Given the description of an element on the screen output the (x, y) to click on. 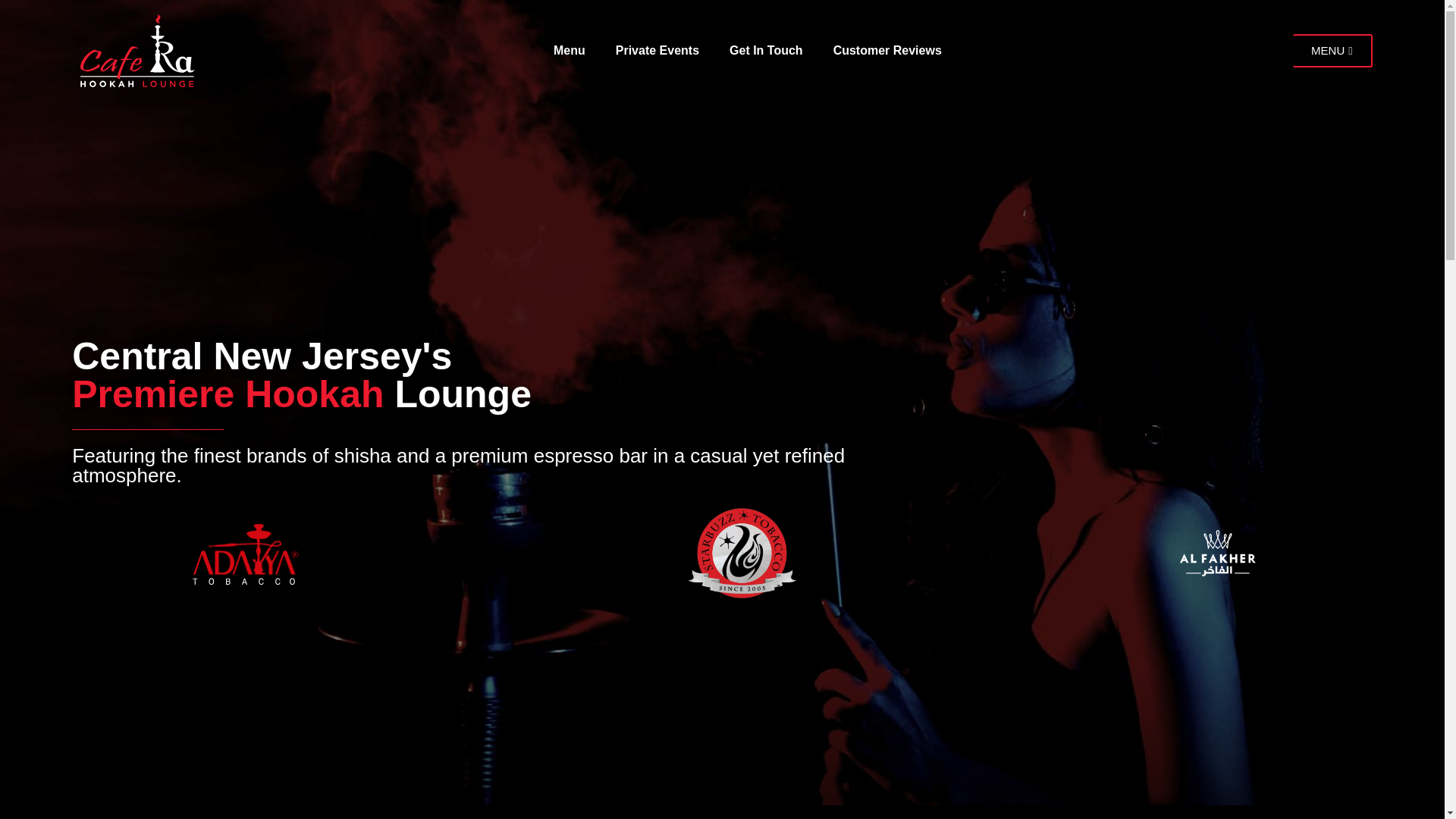
Get In Touch (766, 50)
Customer Reviews (887, 50)
MENU (1332, 50)
Menu (568, 50)
Private Events (656, 50)
